Given the description of an element on the screen output the (x, y) to click on. 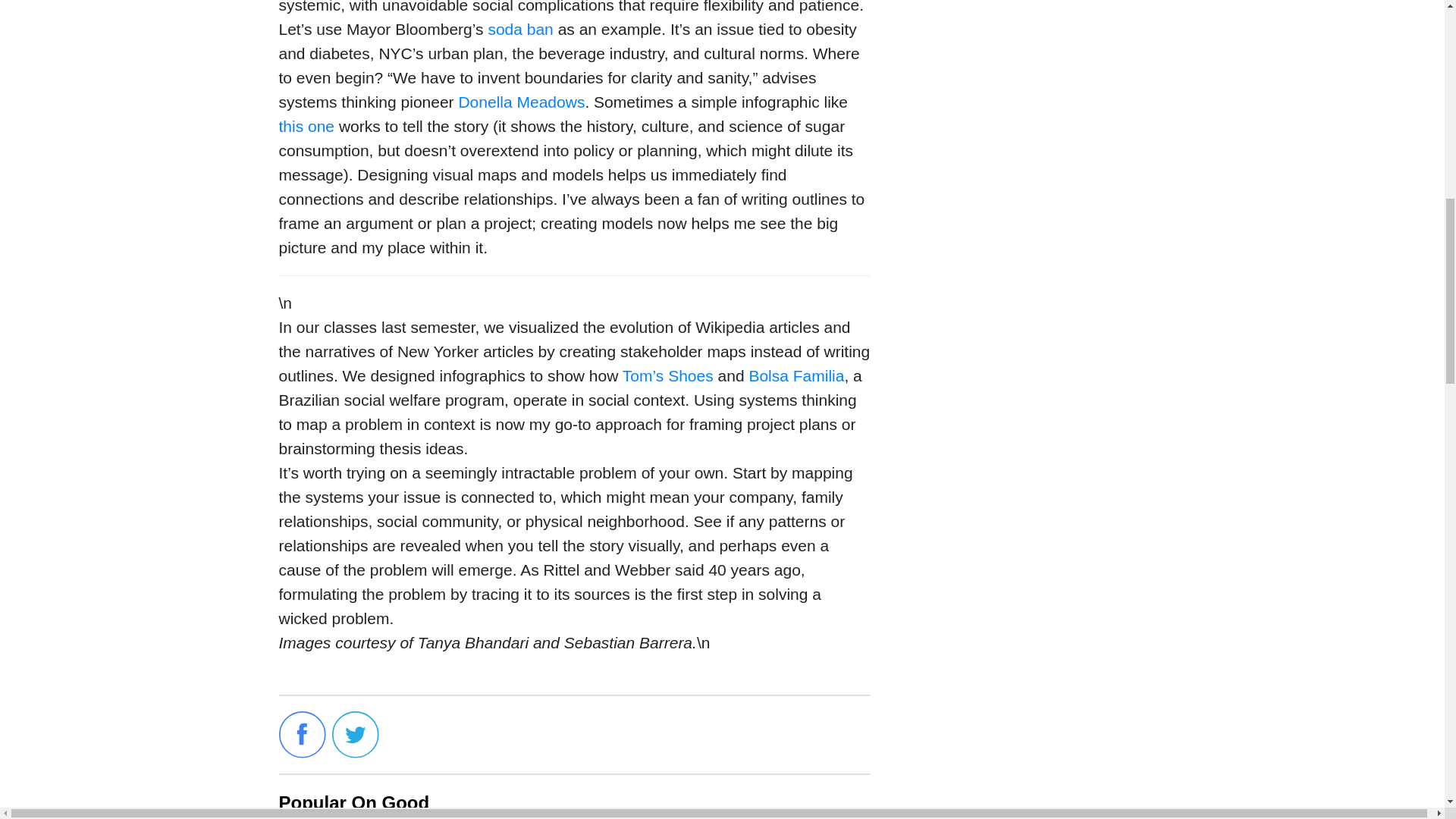
Bolsa Familia (796, 375)
Donella Meadows (521, 101)
soda ban (520, 28)
this one (306, 126)
